Given the description of an element on the screen output the (x, y) to click on. 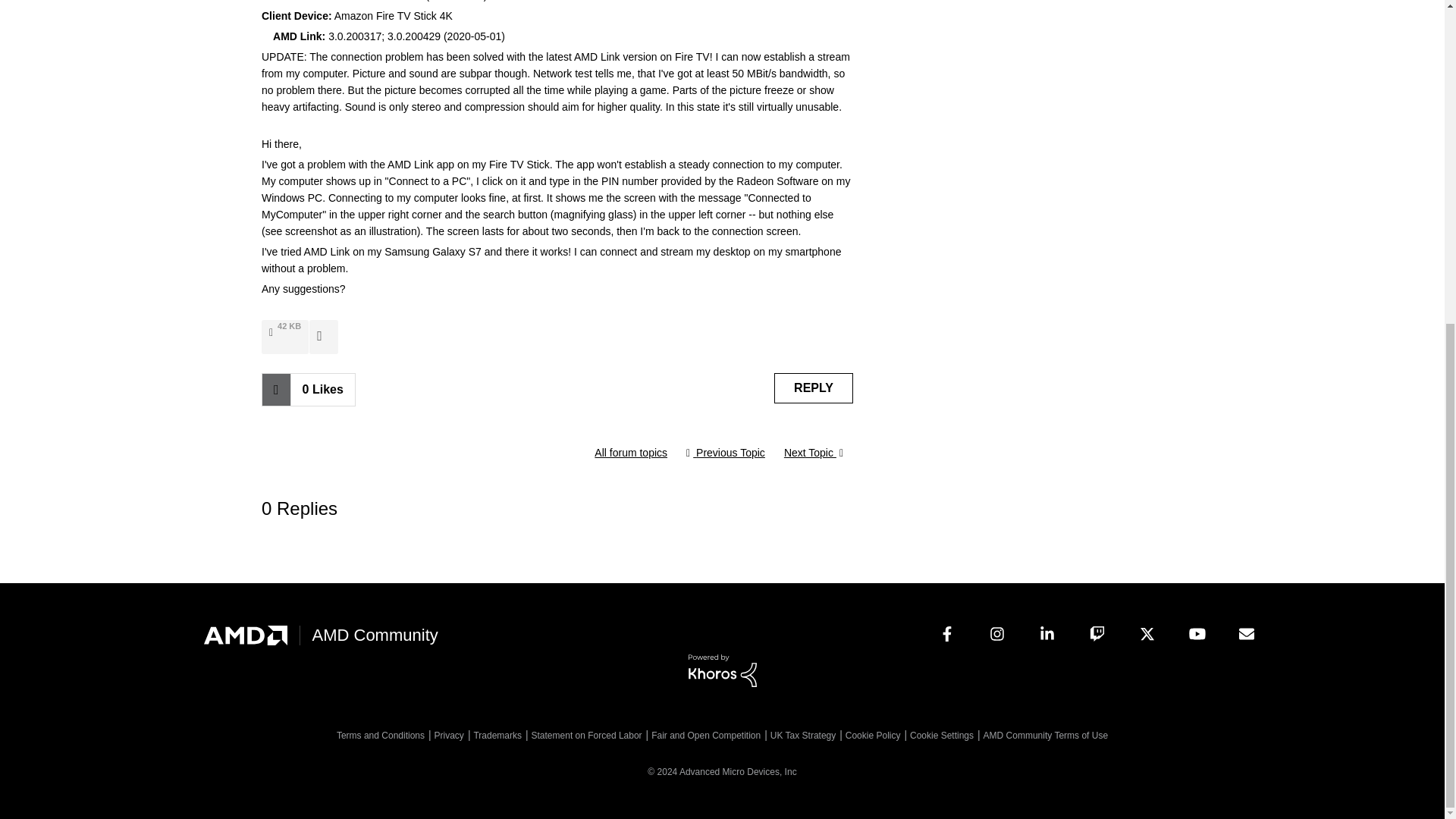
Attachment (273, 332)
Download attachment (323, 336)
